Given the description of an element on the screen output the (x, y) to click on. 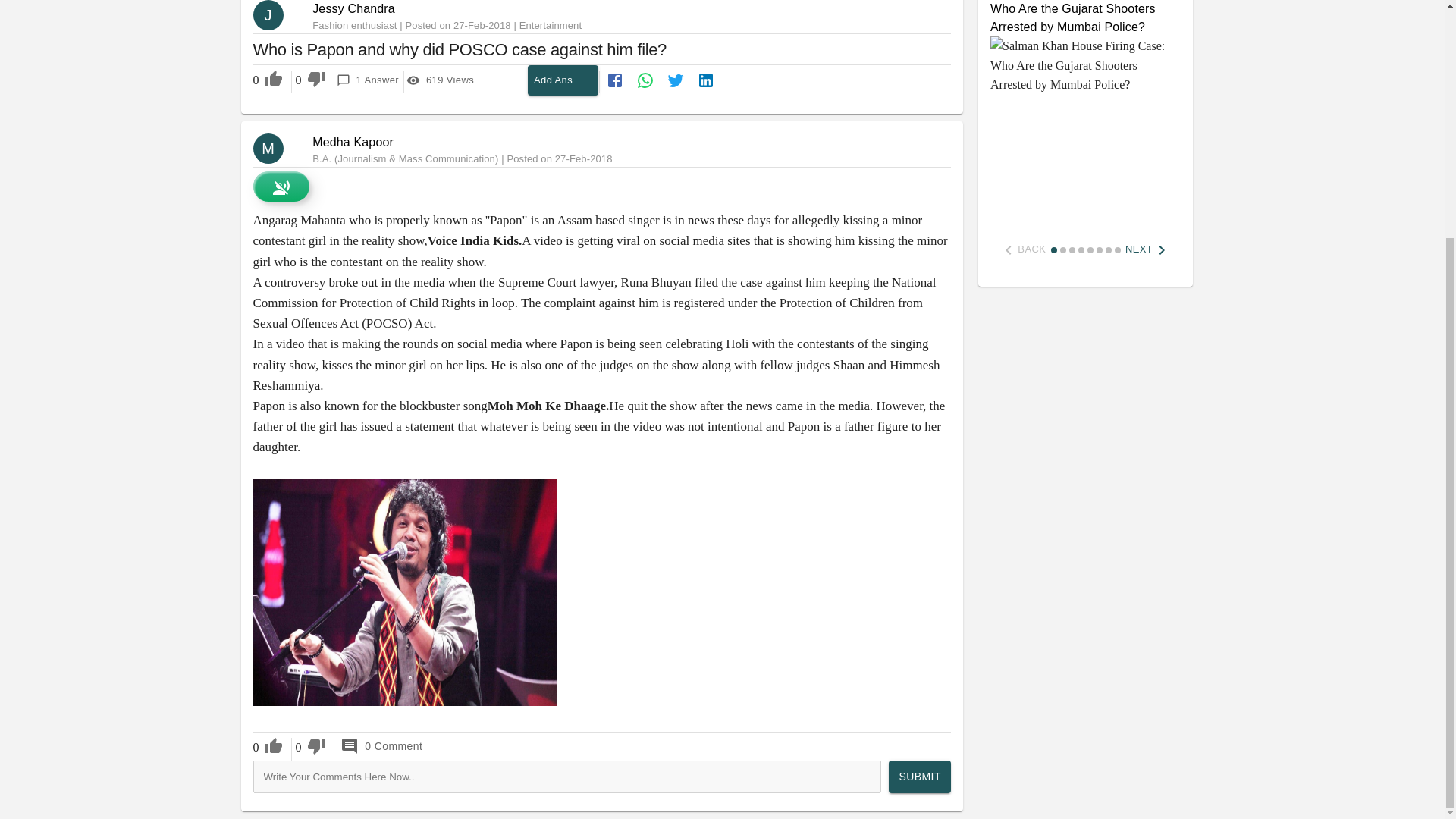
1 Answer (367, 80)
M (274, 148)
Medha Kapoor (562, 80)
Jessy Chandra (353, 141)
619 Views (353, 8)
J (440, 80)
